Given the description of an element on the screen output the (x, y) to click on. 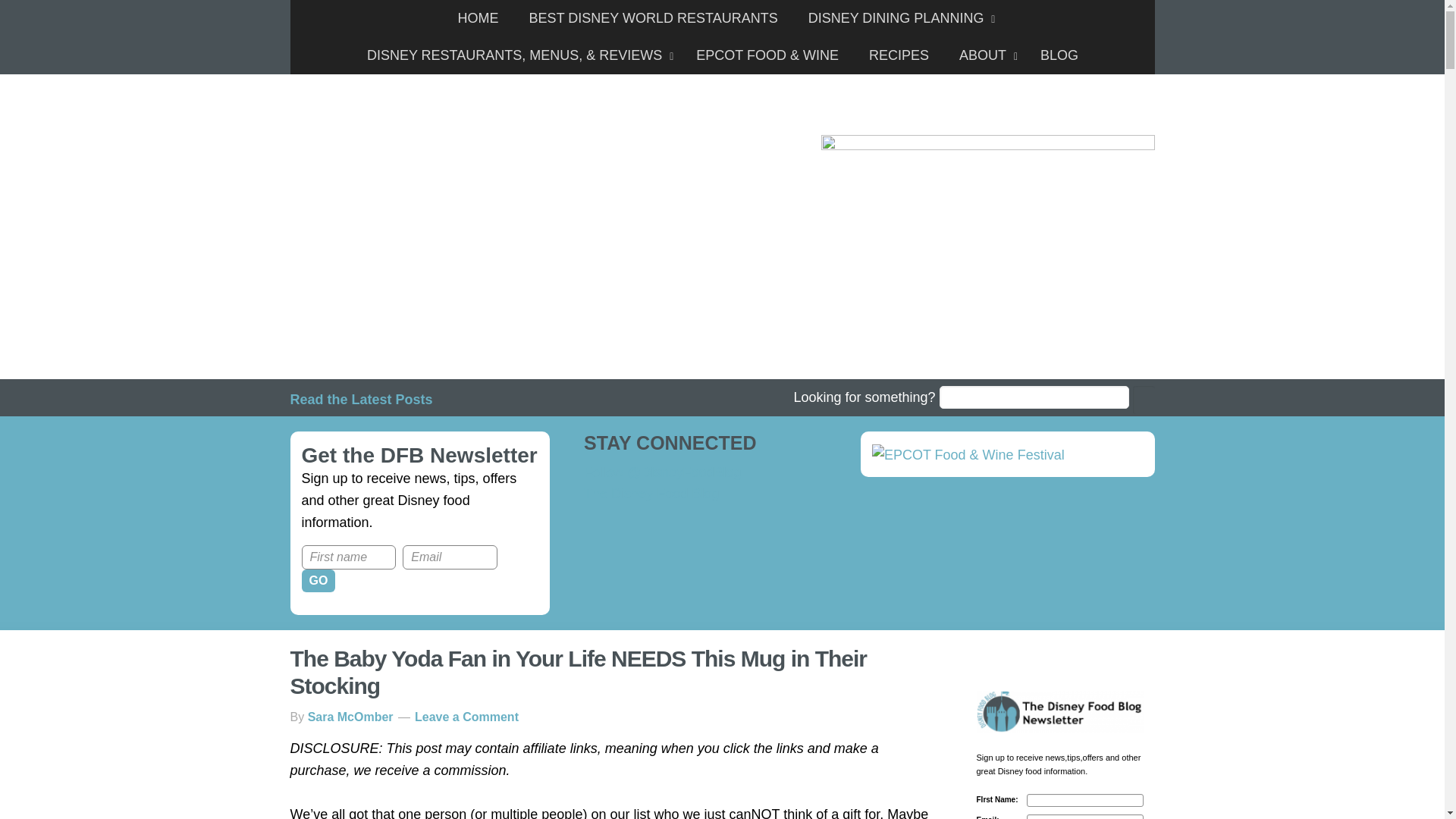
Search (1143, 399)
DISNEY DINING PLANNING (898, 18)
BEST DISNEY WORLD RESTAURANTS (653, 18)
HOME (477, 18)
GO (318, 580)
